Given the description of an element on the screen output the (x, y) to click on. 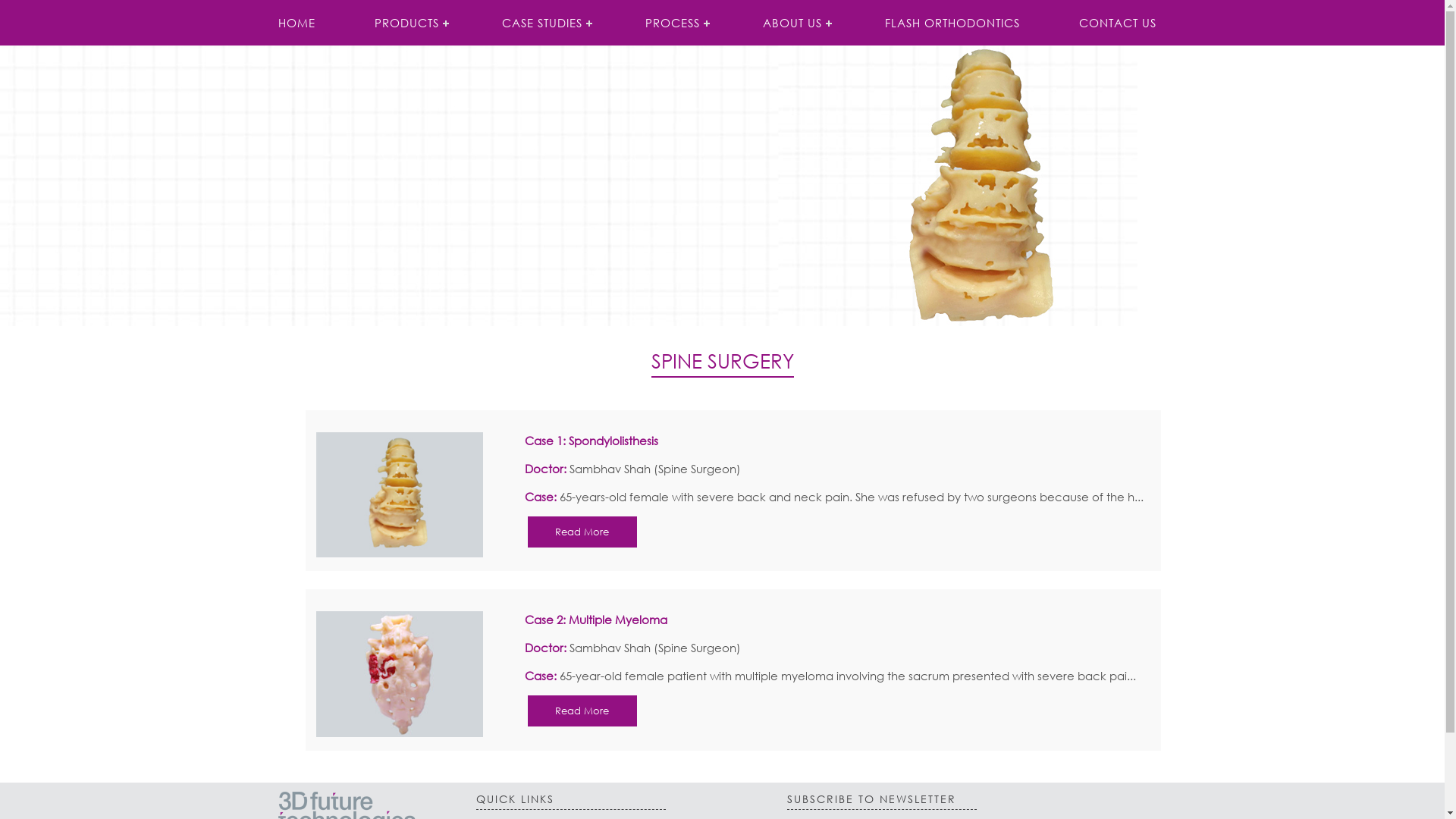
PRODUCTS Element type: text (407, 23)
HOME Element type: text (296, 23)
Read More Element type: text (582, 531)
FLASH ORTHODONTICS Element type: text (952, 23)
ABOUT US Element type: text (793, 23)
CASE STUDIES Element type: text (543, 23)
PROCESS Element type: text (674, 23)
CONTACT US Element type: text (1117, 23)
Read More Element type: text (582, 710)
